Given the description of an element on the screen output the (x, y) to click on. 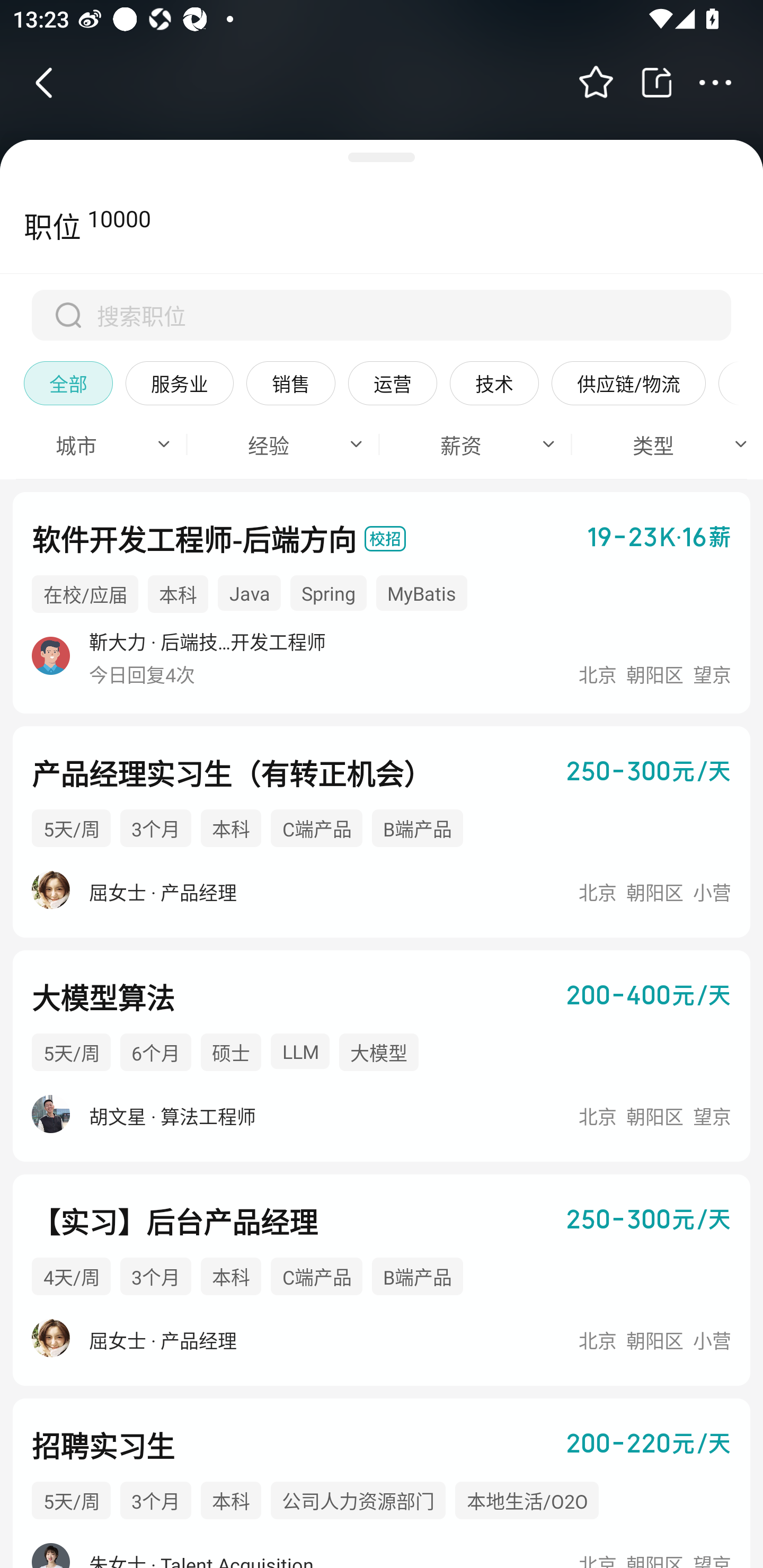
职位 10000 (75, 225)
搜索职位 (381, 315)
全部 (67, 382)
服务业 (179, 382)
销售 (290, 382)
运营 (392, 382)
技术 (494, 382)
供应链/物流 (628, 382)
城市 (85, 443)
经验 (274, 443)
薪资 (466, 443)
类型 (659, 443)
公司地址 全部地址 北京朝阳区望京恒电大厦BC座 导航 (381, 594)
